Given the description of an element on the screen output the (x, y) to click on. 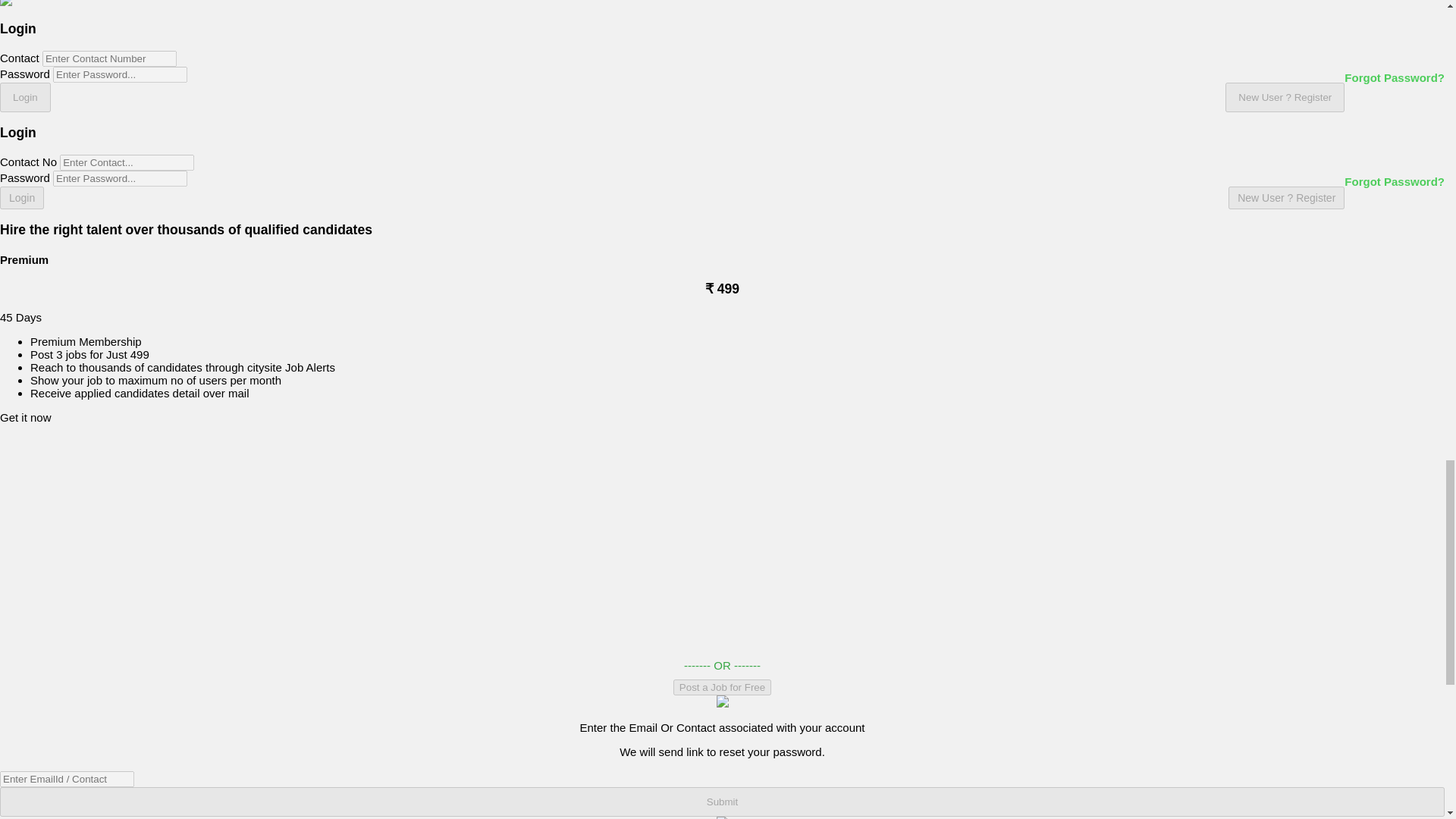
Post a Job for Free (721, 687)
New User ? Register (1284, 97)
Login (25, 97)
New User ? Register (1285, 197)
Get it now (25, 417)
Login (21, 197)
